Given the description of an element on the screen output the (x, y) to click on. 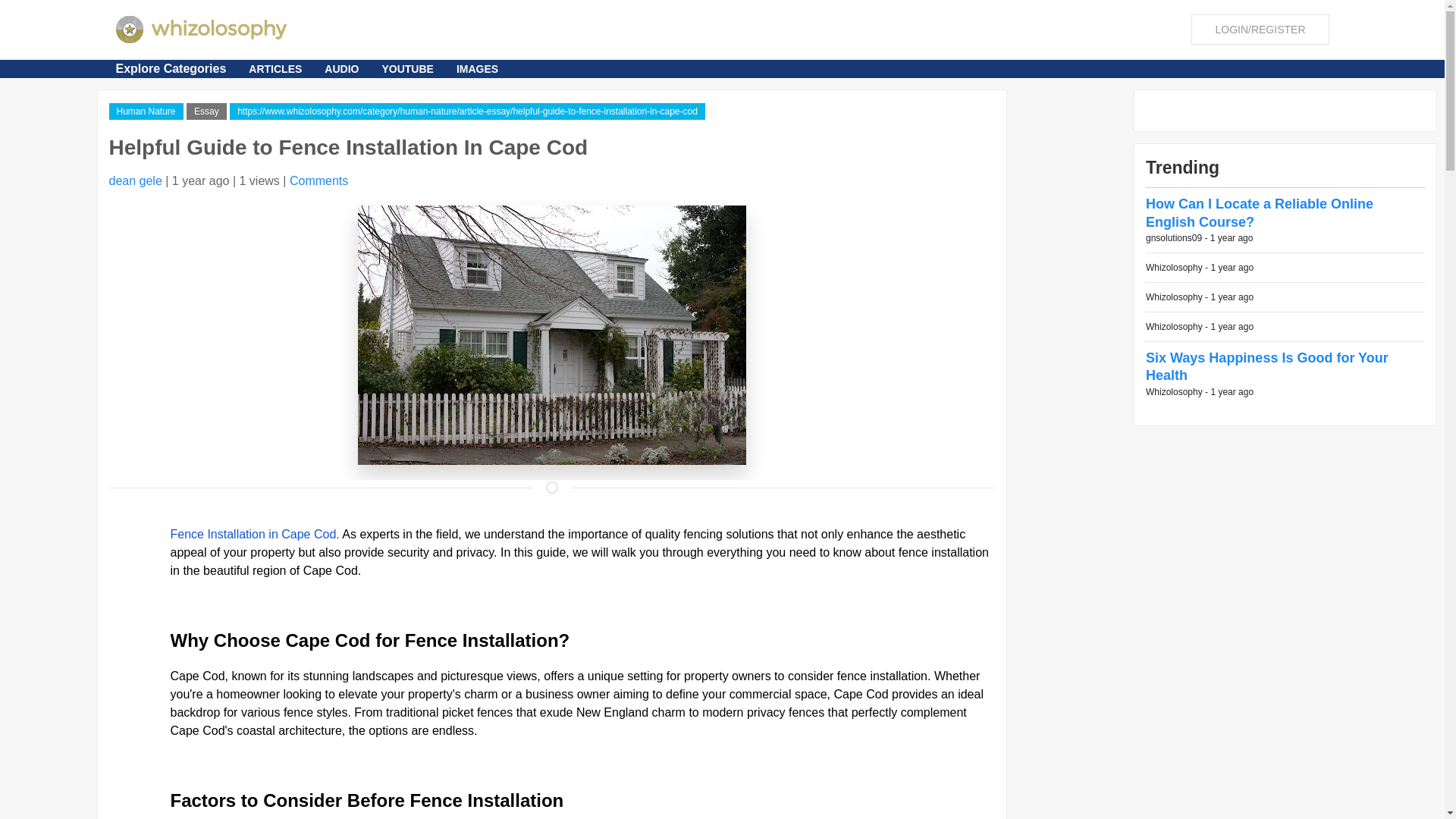
ARTICLES (275, 68)
Fence Installation in Cape Cod. (254, 533)
dean gele (135, 180)
YOUTUBE (406, 68)
AUDIO (341, 68)
IMAGES (477, 68)
Comments (318, 180)
Essay (206, 111)
Explore Categories (170, 68)
Human Nature (146, 111)
